Given the description of an element on the screen output the (x, y) to click on. 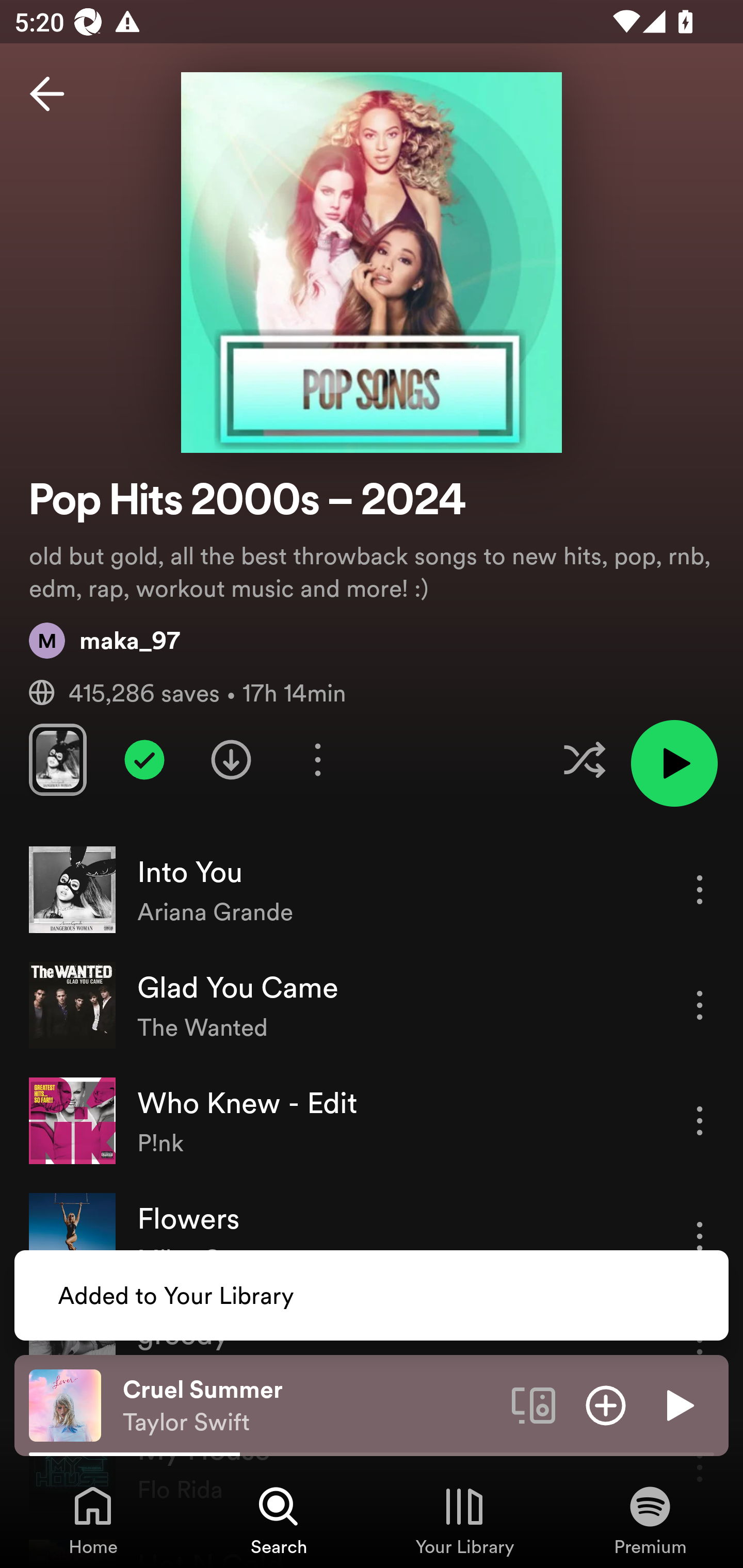
Back (46, 93)
maka_97 (104, 640)
Swipe through previews of tracks in this playlist. (57, 759)
playlist added to Your Library (144, 759)
Download (230, 759)
More options for playlist Pop Hits 2000s – 2024 (317, 759)
Enable shuffle for this playlist (583, 759)
Play playlist (674, 763)
More options for song Into You (699, 889)
More options for song Glad You Came (699, 1004)
More options for song Who Knew - Edit (699, 1120)
Flowers Miley Cyrus More options for song Flowers (371, 1236)
More options for song Flowers (699, 1236)
Cruel Summer Taylor Swift (309, 1405)
The cover art of the currently playing track (64, 1404)
Connect to a device. Opens the devices menu (533, 1404)
Add item (605, 1404)
Play (677, 1404)
Home, Tab 1 of 4 Home Home (92, 1519)
Search, Tab 2 of 4 Search Search (278, 1519)
Your Library, Tab 3 of 4 Your Library Your Library (464, 1519)
Premium, Tab 4 of 4 Premium Premium (650, 1519)
